Given the description of an element on the screen output the (x, y) to click on. 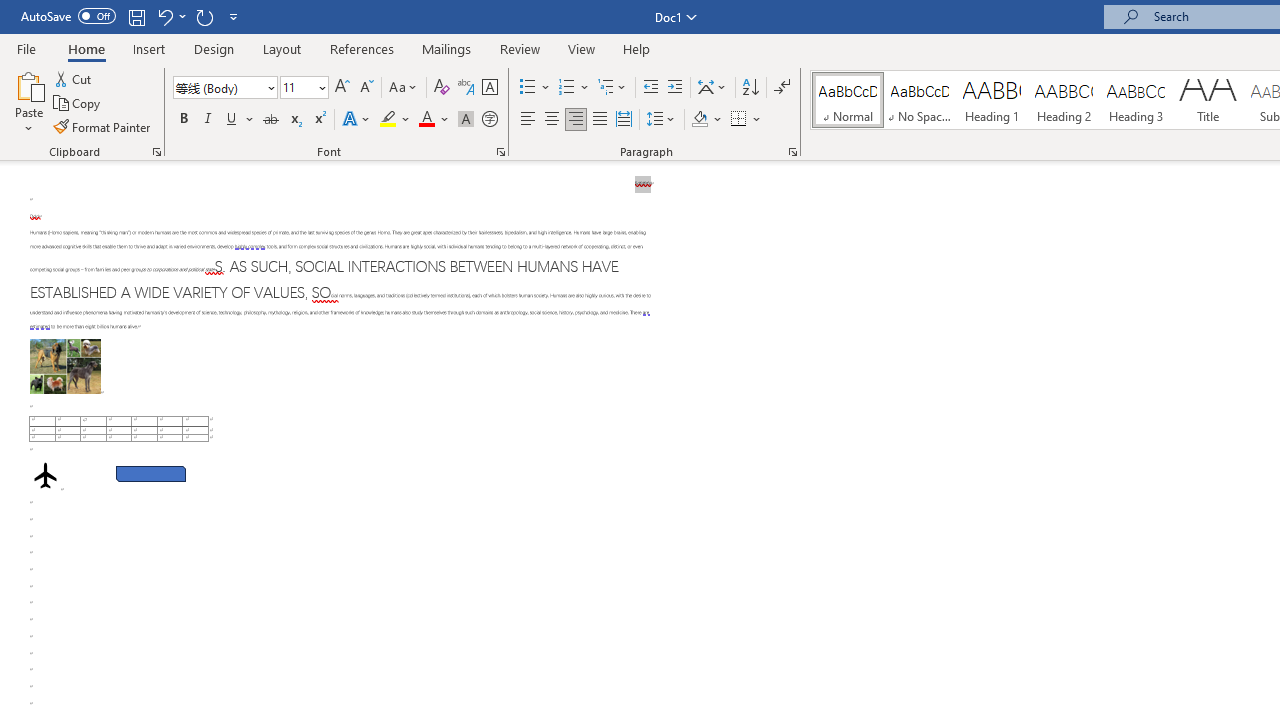
Repeat Paragraph Alignment (204, 15)
Undo Paragraph Alignment (164, 15)
Airplane with solid fill (45, 475)
Heading 2 (1063, 100)
Rectangle: Diagonal Corners Snipped 2 (150, 473)
